Given the description of an element on the screen output the (x, y) to click on. 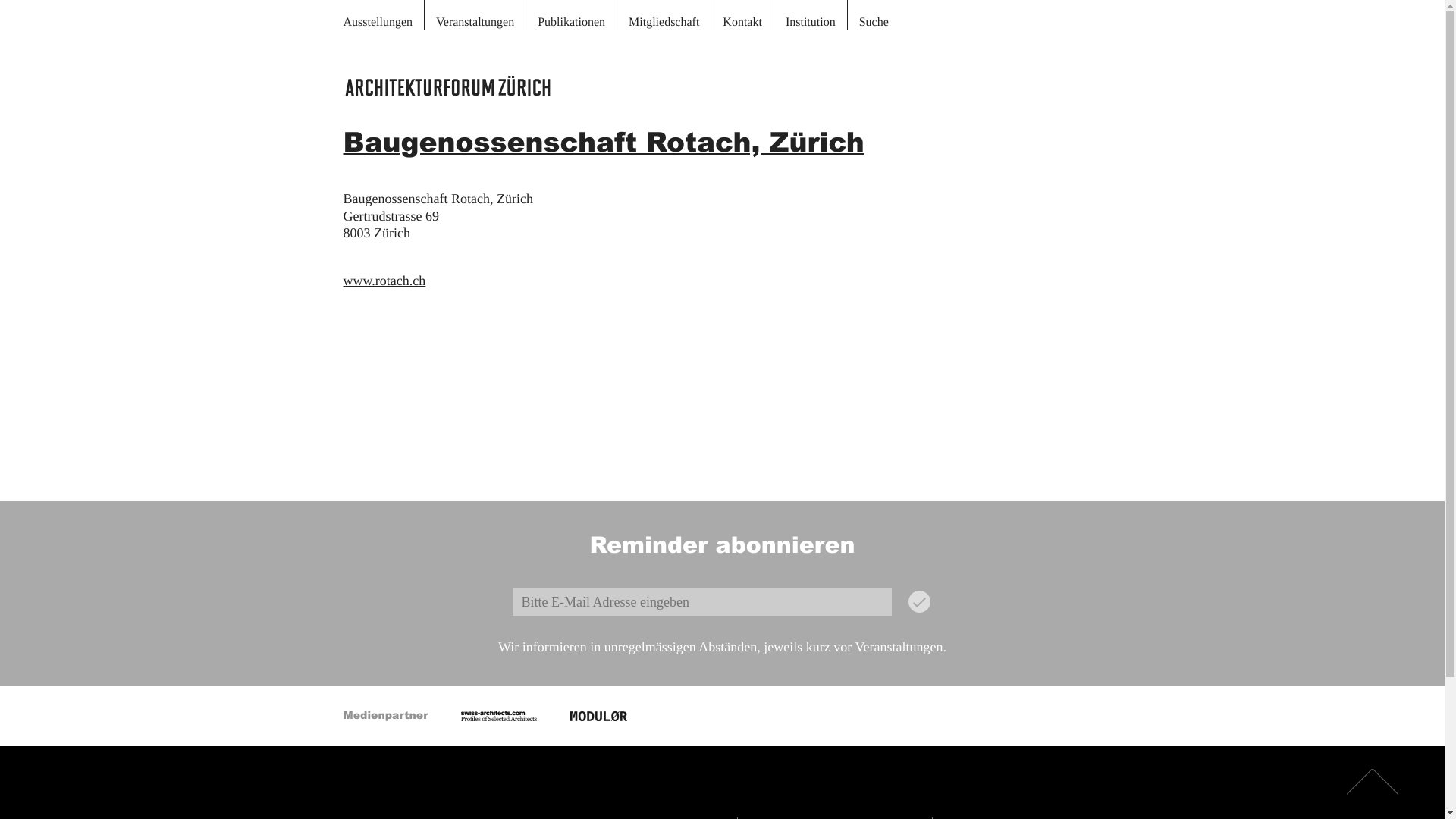
Publikationen Element type: text (571, 15)
Mitgliedschaft Element type: text (664, 15)
Kontakt Element type: text (742, 15)
Veranstaltungen Element type: text (475, 15)
Ausstellungen Element type: text (383, 15)
www.rotach.ch Element type: text (383, 280)
Institution Element type: text (810, 15)
Suche Element type: text (873, 15)
